Given the description of an element on the screen output the (x, y) to click on. 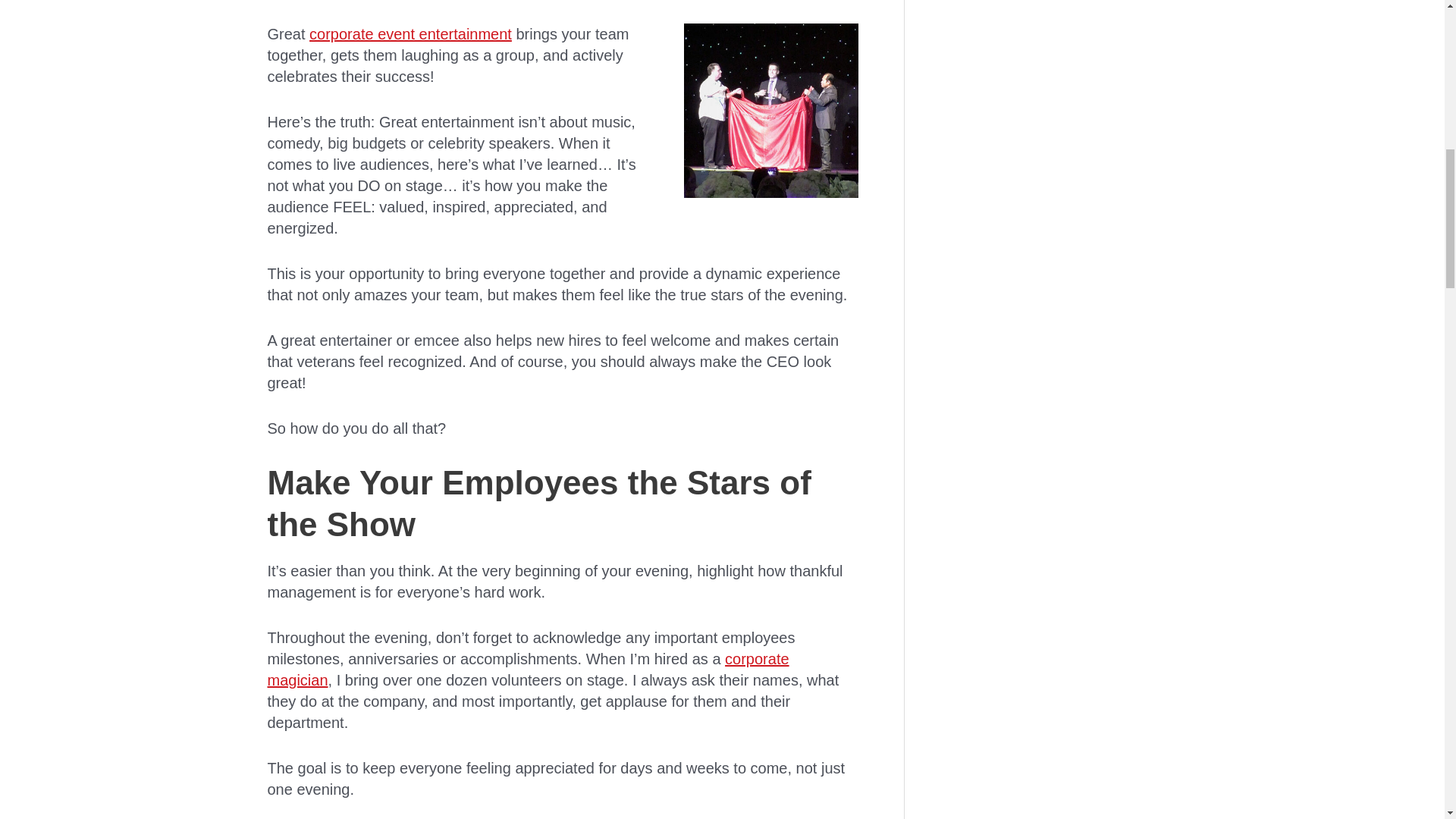
corporate event entertainment (410, 33)
corporate magician (527, 669)
